Given the description of an element on the screen output the (x, y) to click on. 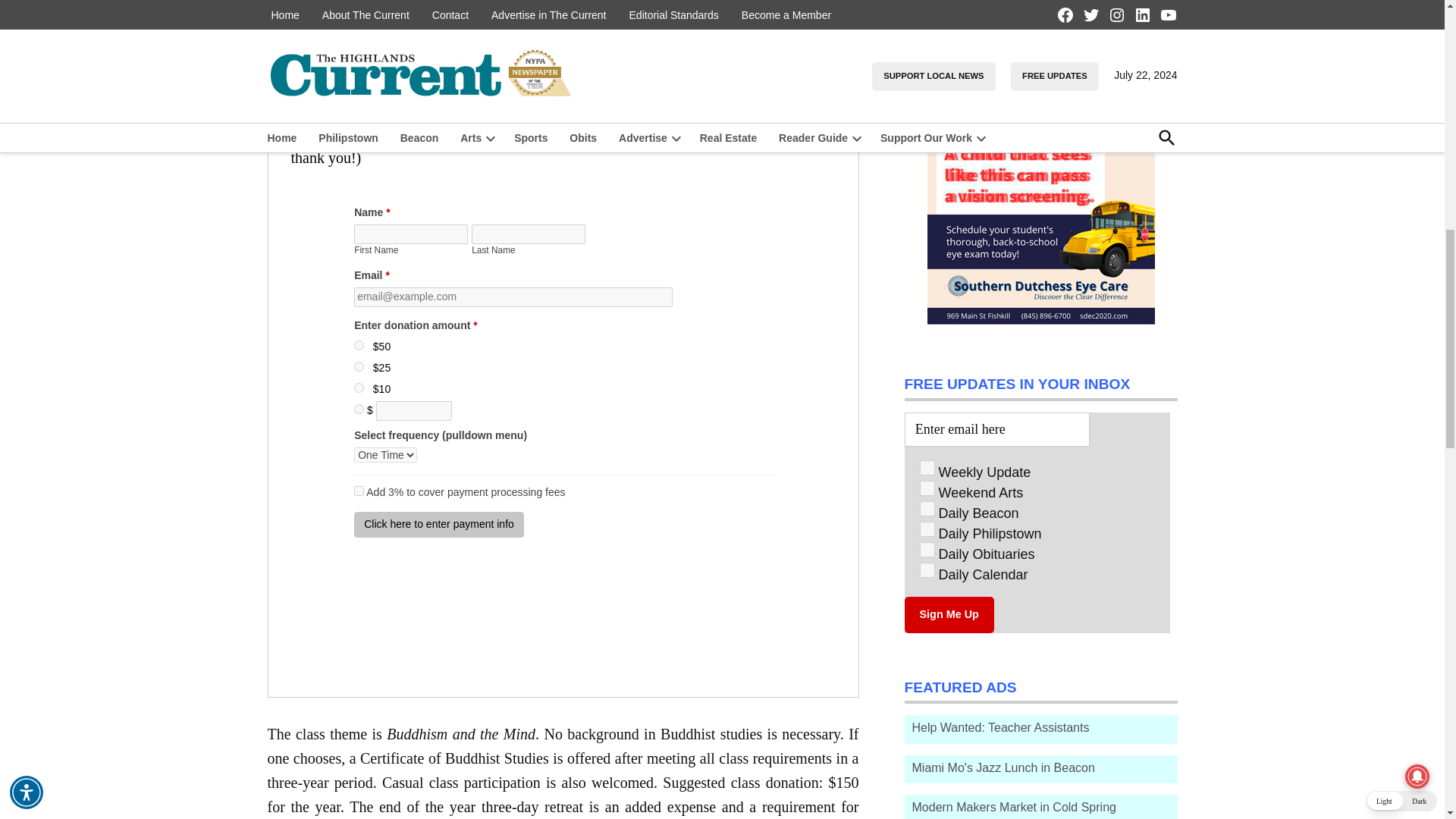
Sign Me Up (948, 615)
Enter email here (996, 429)
The Current to Expand Staff (936, 65)
The Current to Expand Staff (1054, 23)
